Given the description of an element on the screen output the (x, y) to click on. 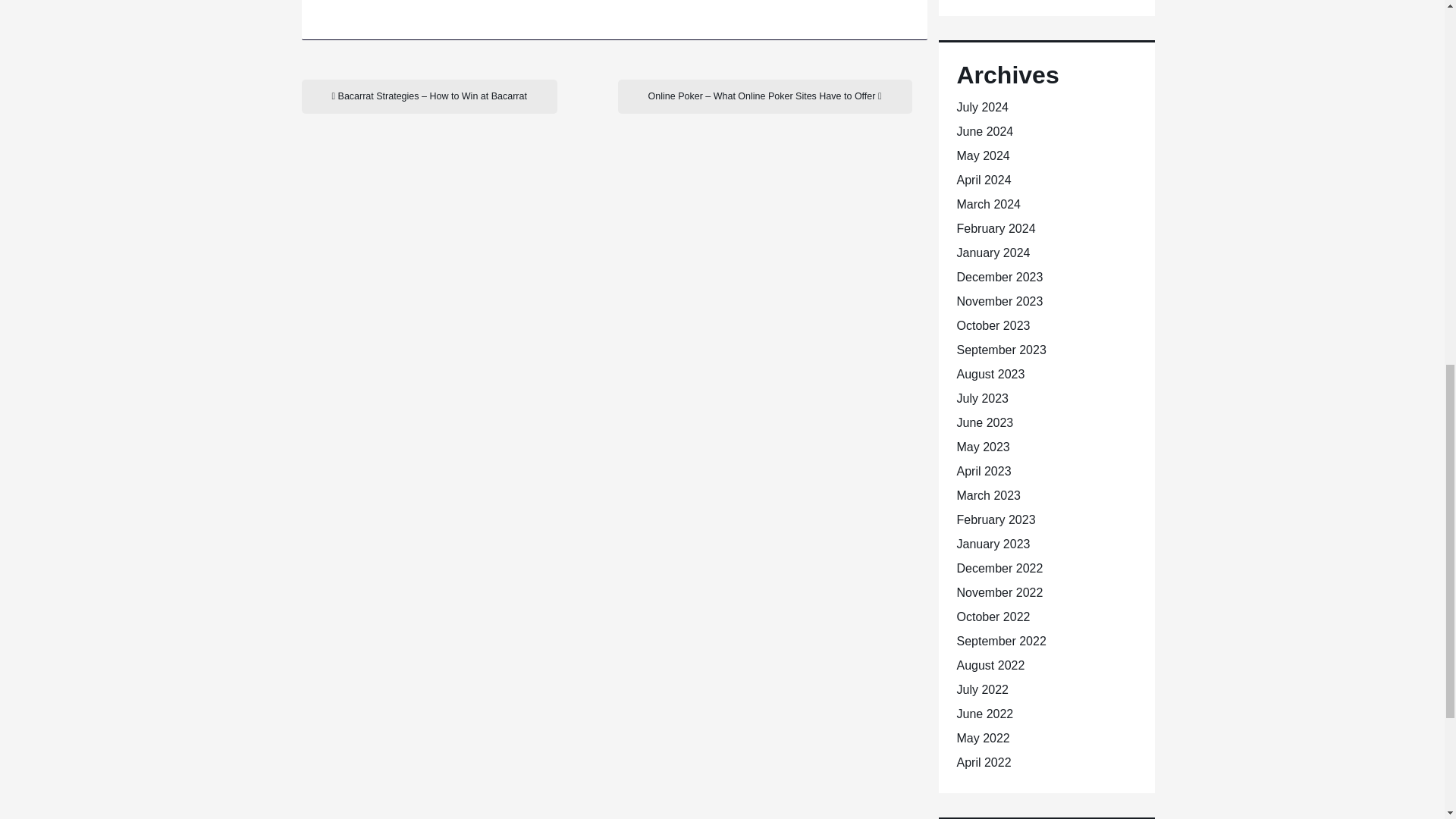
January 2024 (993, 252)
July 2023 (982, 398)
July 2024 (982, 106)
April 2023 (983, 471)
December 2023 (999, 277)
February 2023 (995, 519)
March 2024 (989, 204)
August 2023 (990, 373)
June 2022 (984, 713)
October 2022 (993, 616)
May 2022 (983, 738)
June 2024 (984, 131)
July 2022 (982, 689)
November 2023 (999, 300)
November 2022 (999, 592)
